Given the description of an element on the screen output the (x, y) to click on. 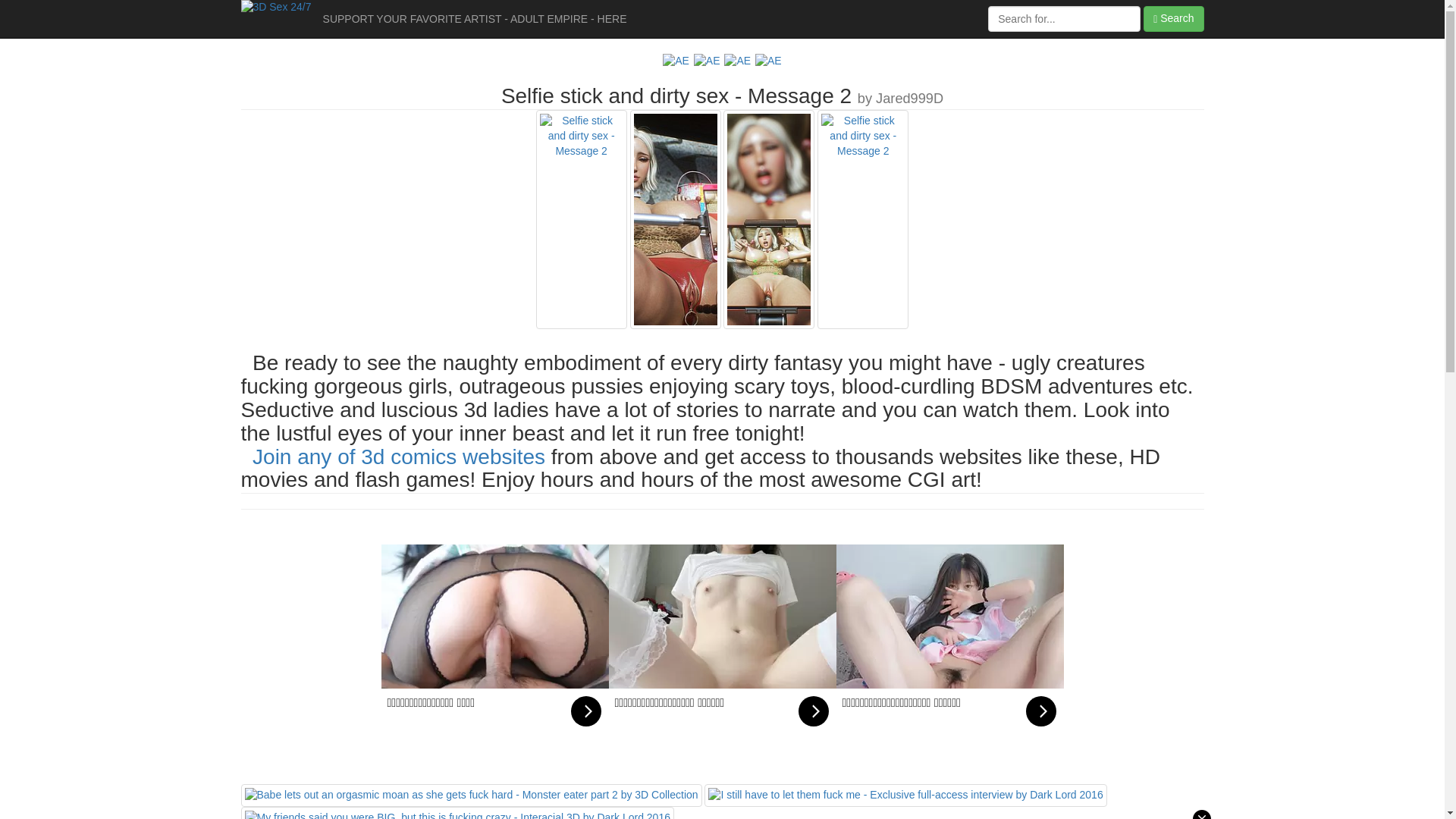
Join any of 3d comics websites Element type: text (398, 456)
Search Element type: text (1173, 18)
SUPPORT YOUR FAVORITE ARTIST - ADULT EMPIRE - HERE Element type: text (474, 18)
